Given the description of an element on the screen output the (x, y) to click on. 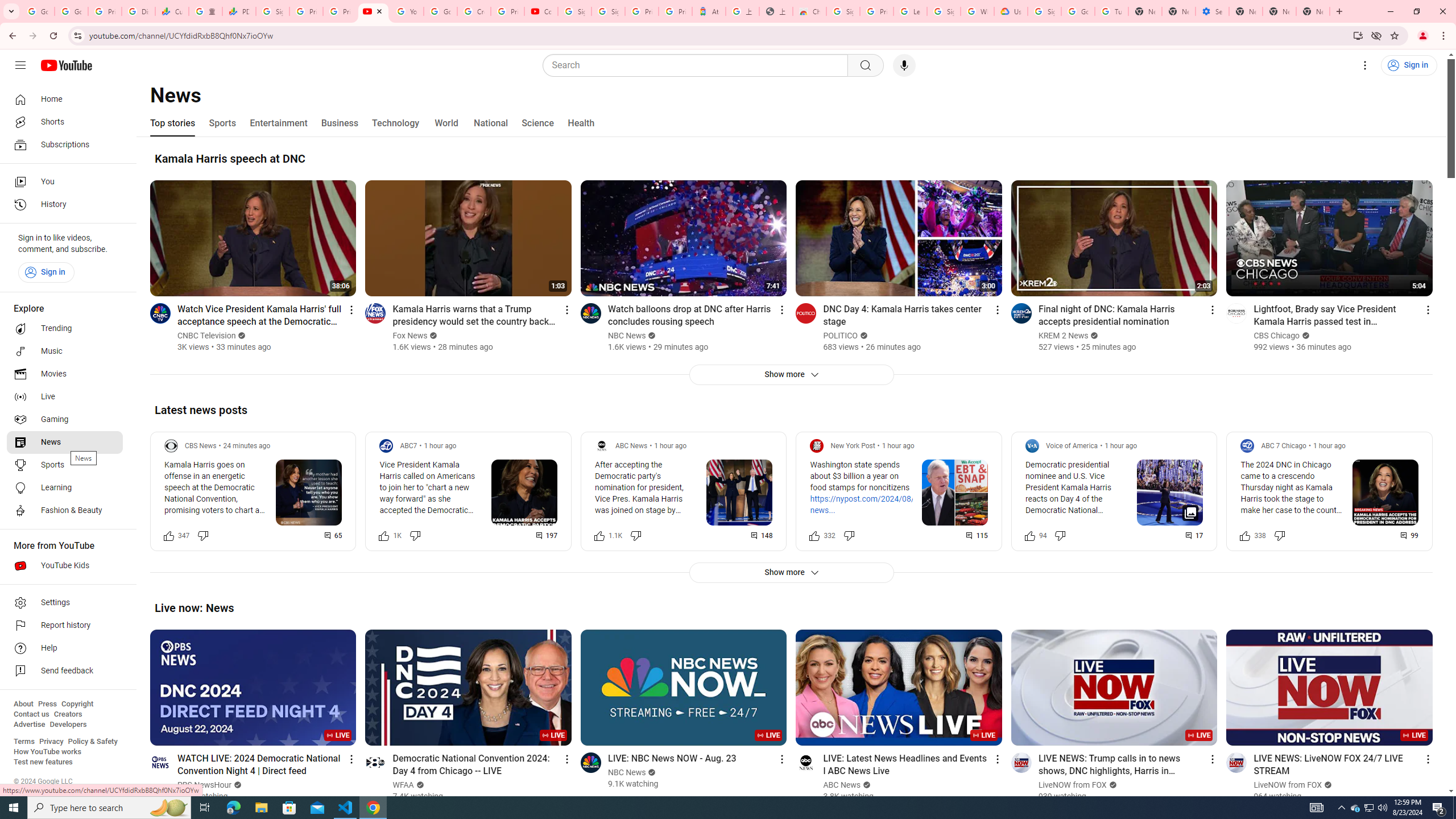
Sign in - Google Accounts (272, 11)
Shorts (64, 121)
CNBC Television (206, 335)
Fox News (410, 335)
LIVE: NBC News NOW - Aug. 23 by NBC News 665,260 views (671, 757)
WFAA (403, 784)
Like this post along with 1,140 other people (598, 534)
Search (865, 65)
Content Creator Programs & Opportunities - YouTube Creators (541, 11)
Report history (64, 625)
